Given the description of an element on the screen output the (x, y) to click on. 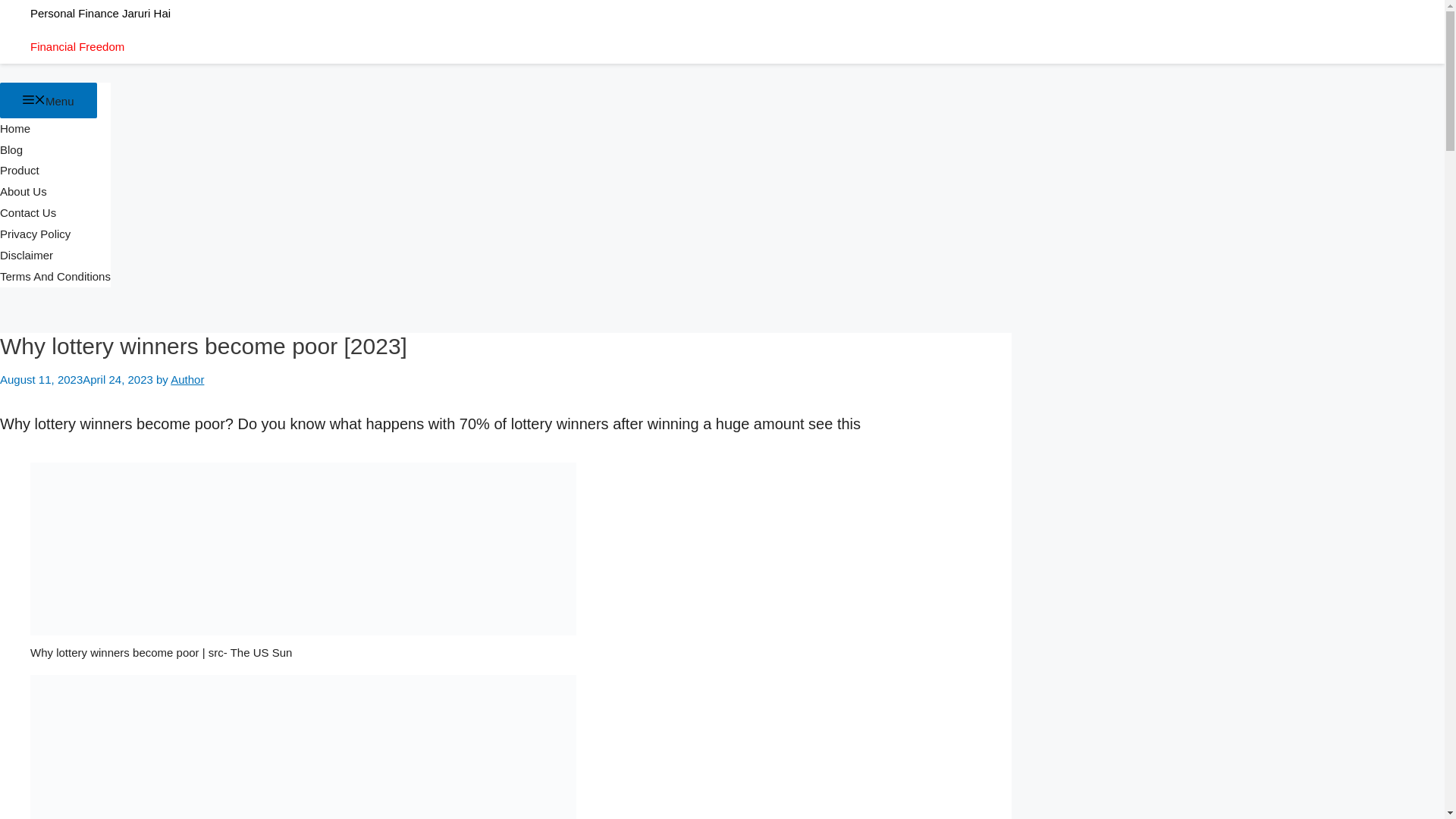
Product (19, 169)
Home (15, 128)
View all posts by Author (186, 379)
Blog (11, 149)
About Us (23, 191)
Disclaimer (26, 254)
Author (186, 379)
Menu (48, 99)
Privacy Policy (34, 233)
Contact Us (28, 212)
